Given the description of an element on the screen output the (x, y) to click on. 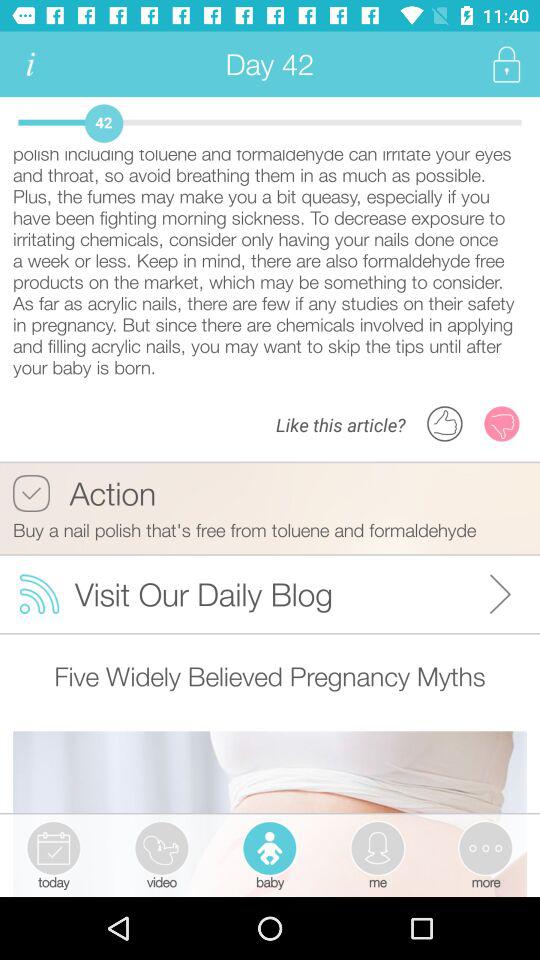
question or help option (30, 63)
